Given the description of an element on the screen output the (x, y) to click on. 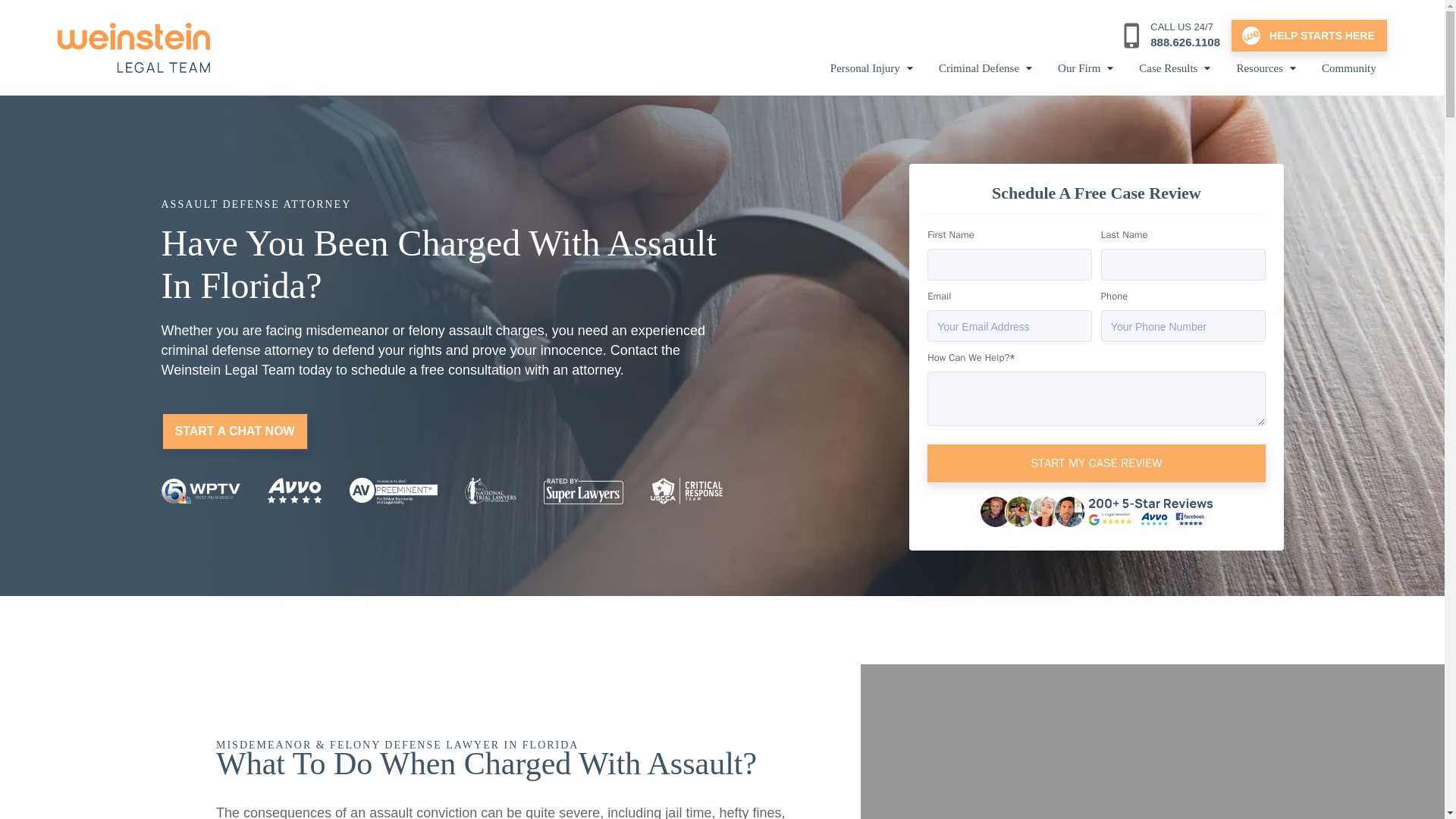
Start My Case Review (1096, 463)
